Given the description of an element on the screen output the (x, y) to click on. 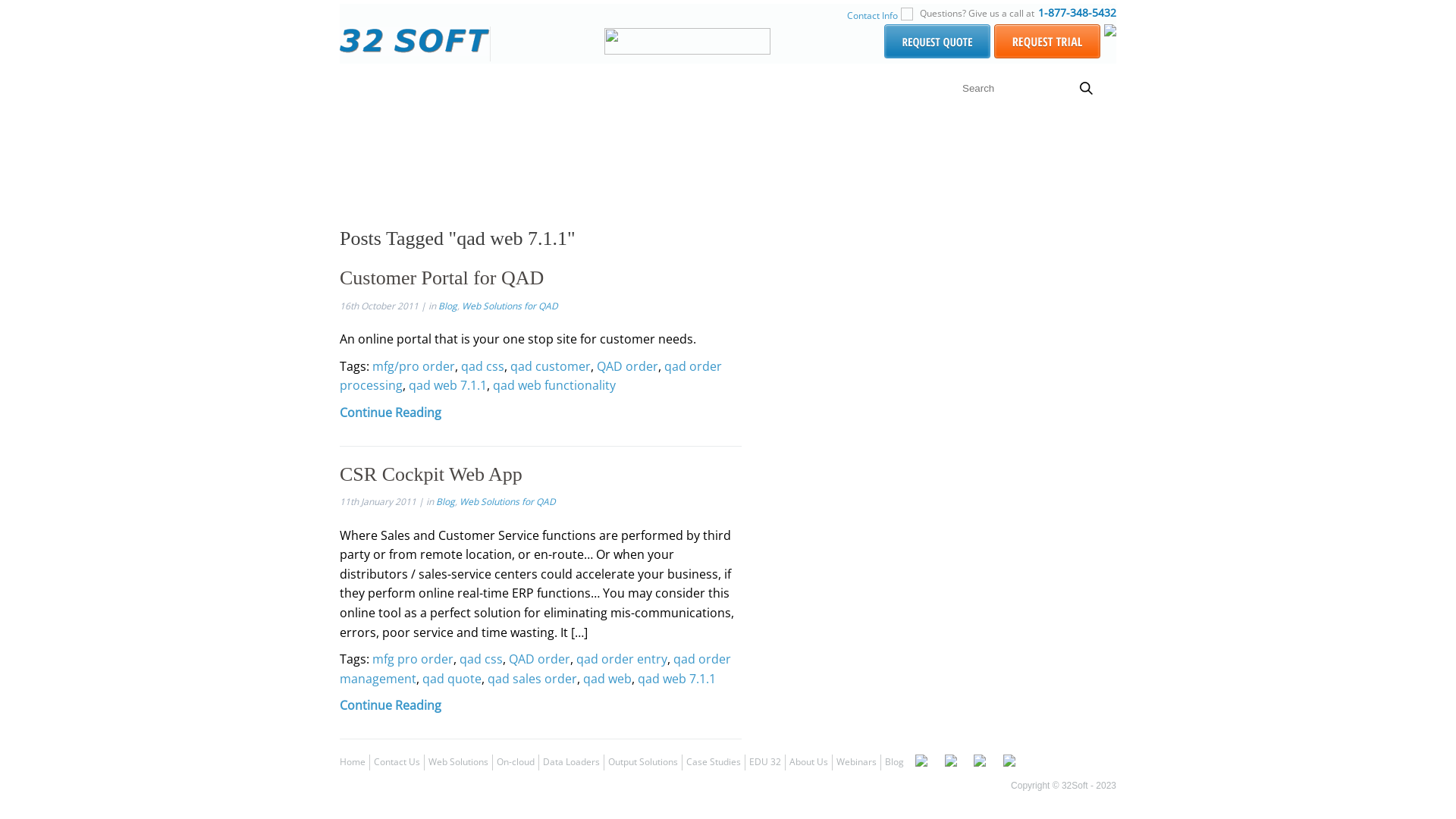
Customer Portal for QAD Element type: text (441, 277)
Webinars Element type: text (834, 88)
mfg pro order Element type: text (412, 658)
Data Loaders Element type: text (434, 88)
Contact Info Element type: text (872, 15)
Output Solutions Element type: text (642, 761)
Blog Element type: text (447, 305)
CSR Cockpit Web App Element type: text (430, 474)
qad quote Element type: text (451, 678)
QAD order Element type: text (627, 365)
Contact Us Element type: text (396, 761)
Continue Reading Element type: text (390, 412)
About Us Element type: text (766, 88)
Web Solutions Element type: text (458, 761)
qad web 7.1.1 Element type: text (447, 384)
Blog Element type: text (891, 88)
qad web functionality Element type: text (553, 384)
qad order processing Element type: text (530, 375)
qad css Element type: text (480, 658)
Home Element type: text (364, 88)
About Us Element type: text (808, 761)
Continue Reading Element type: text (390, 704)
Web Solutions for QAD Element type: text (509, 305)
Webinars Element type: text (856, 761)
Data Loaders Element type: text (570, 761)
QAD order Element type: text (539, 658)
Blog Element type: text (445, 501)
Web Solutions for QAD Element type: text (507, 501)
mfg/pro order Element type: text (413, 365)
Case Studies Element type: text (630, 88)
Output Solutions Element type: text (532, 88)
EDU 32 Element type: text (703, 88)
qad web 7.1.1 Element type: text (676, 678)
On-cloud Element type: text (515, 761)
Home Element type: text (352, 761)
qad css Element type: text (482, 365)
qad order management Element type: text (535, 668)
EDU 32 Element type: text (765, 761)
Blog Element type: text (893, 761)
qad web Element type: text (607, 678)
qad order entry Element type: text (621, 658)
Case Studies Element type: text (713, 761)
qad sales order Element type: text (532, 678)
qad customer Element type: text (550, 365)
